Given the description of an element on the screen output the (x, y) to click on. 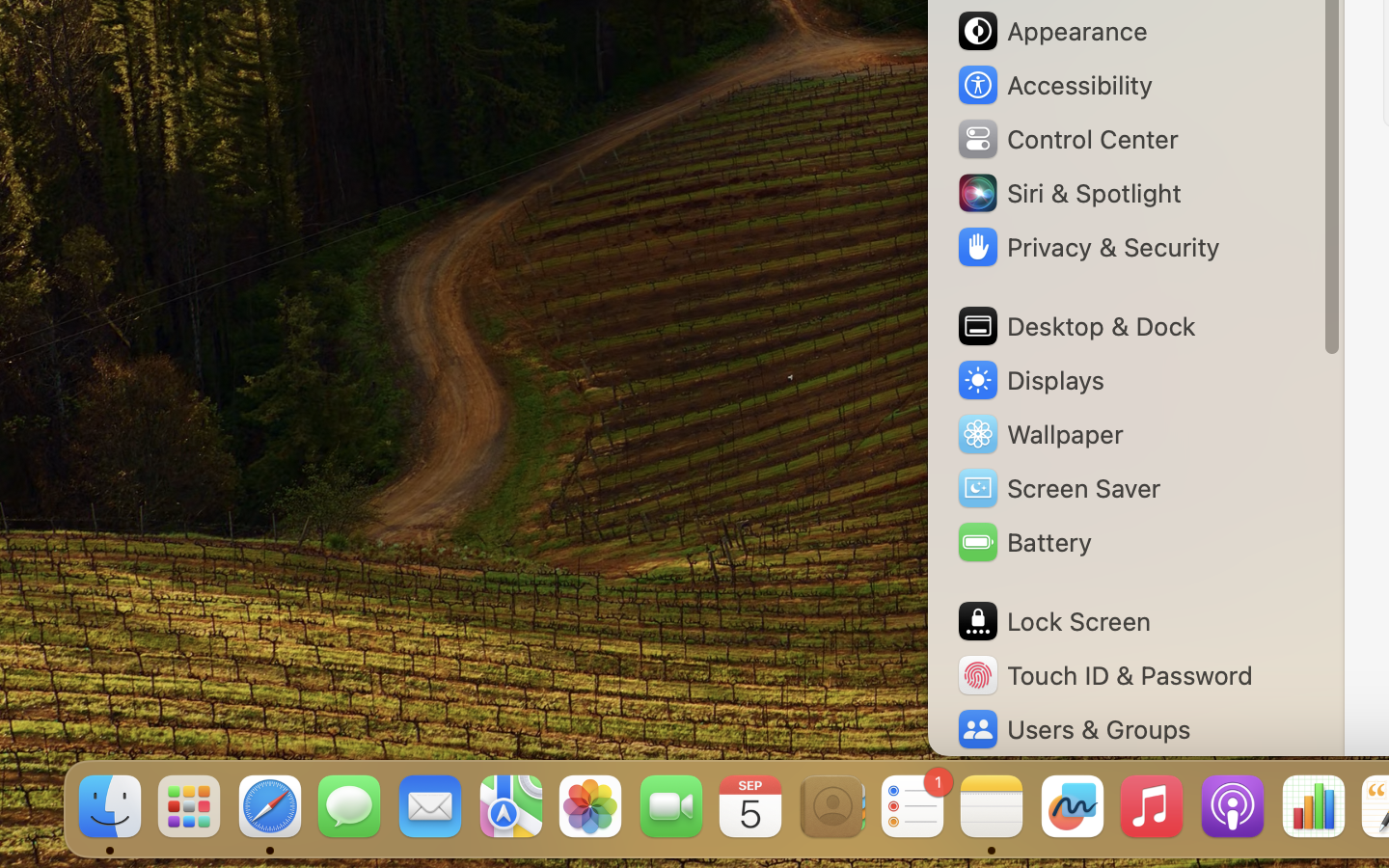
Wallpaper Element type: AXStaticText (1038, 433)
Screen Saver Element type: AXStaticText (1057, 487)
Privacy & Security Element type: AXStaticText (1086, 246)
Touch ID & Password Element type: AXStaticText (1103, 674)
Users & Groups Element type: AXStaticText (1072, 728)
